Given the description of an element on the screen output the (x, y) to click on. 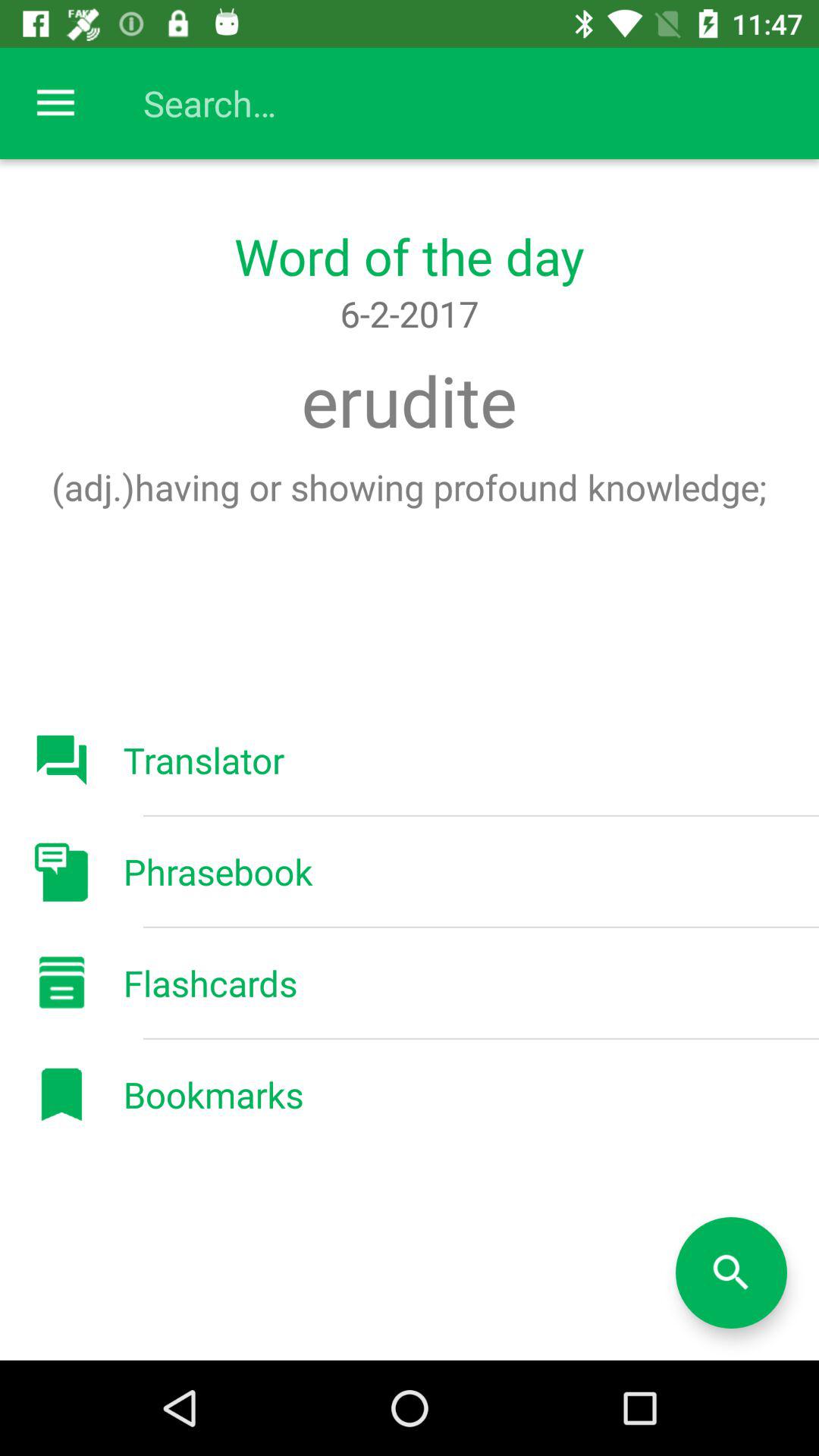
jump to the translator (203, 759)
